Given the description of an element on the screen output the (x, y) to click on. 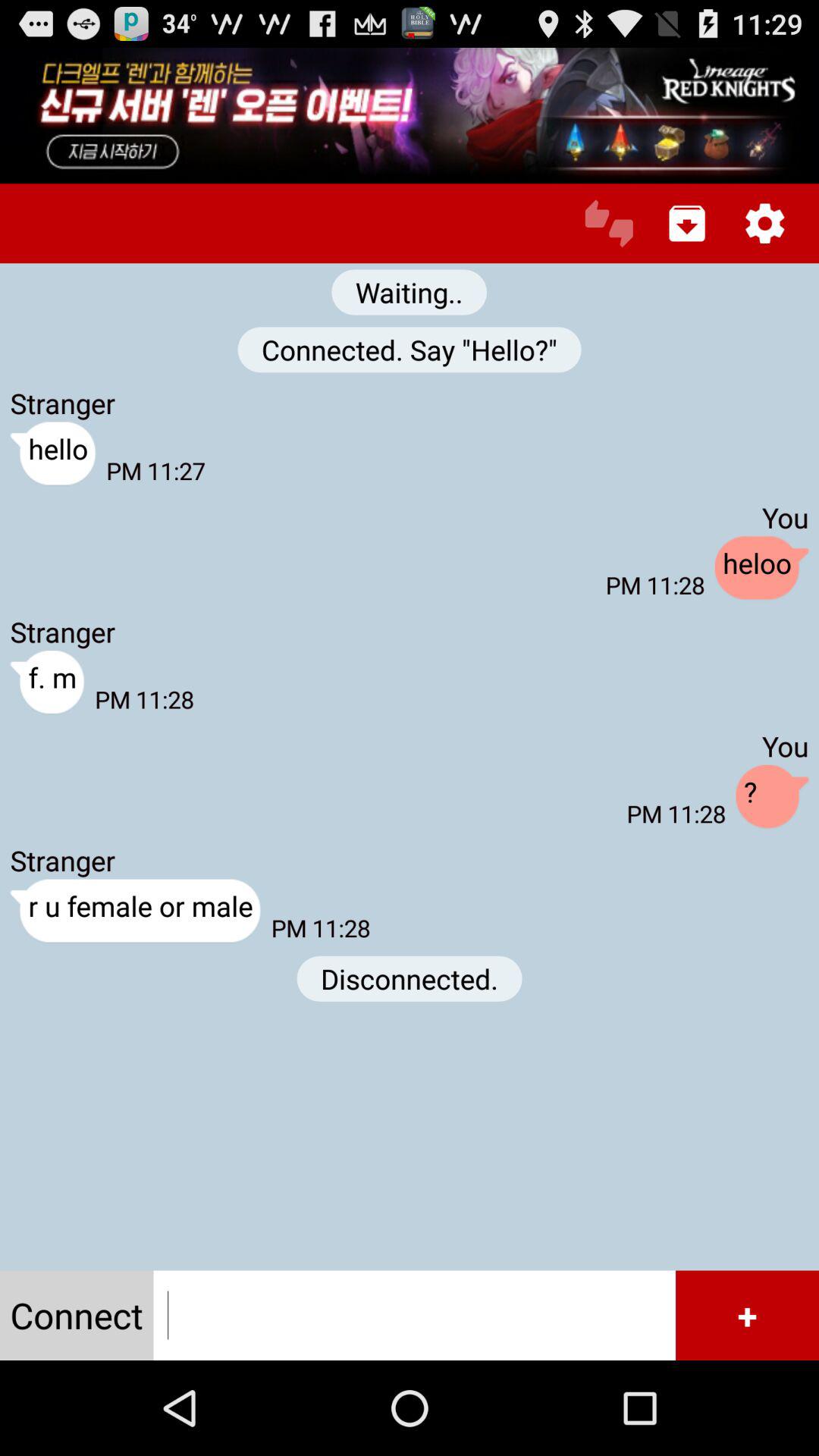
tap the icon below pm 11:28 app (409, 978)
